Given the description of an element on the screen output the (x, y) to click on. 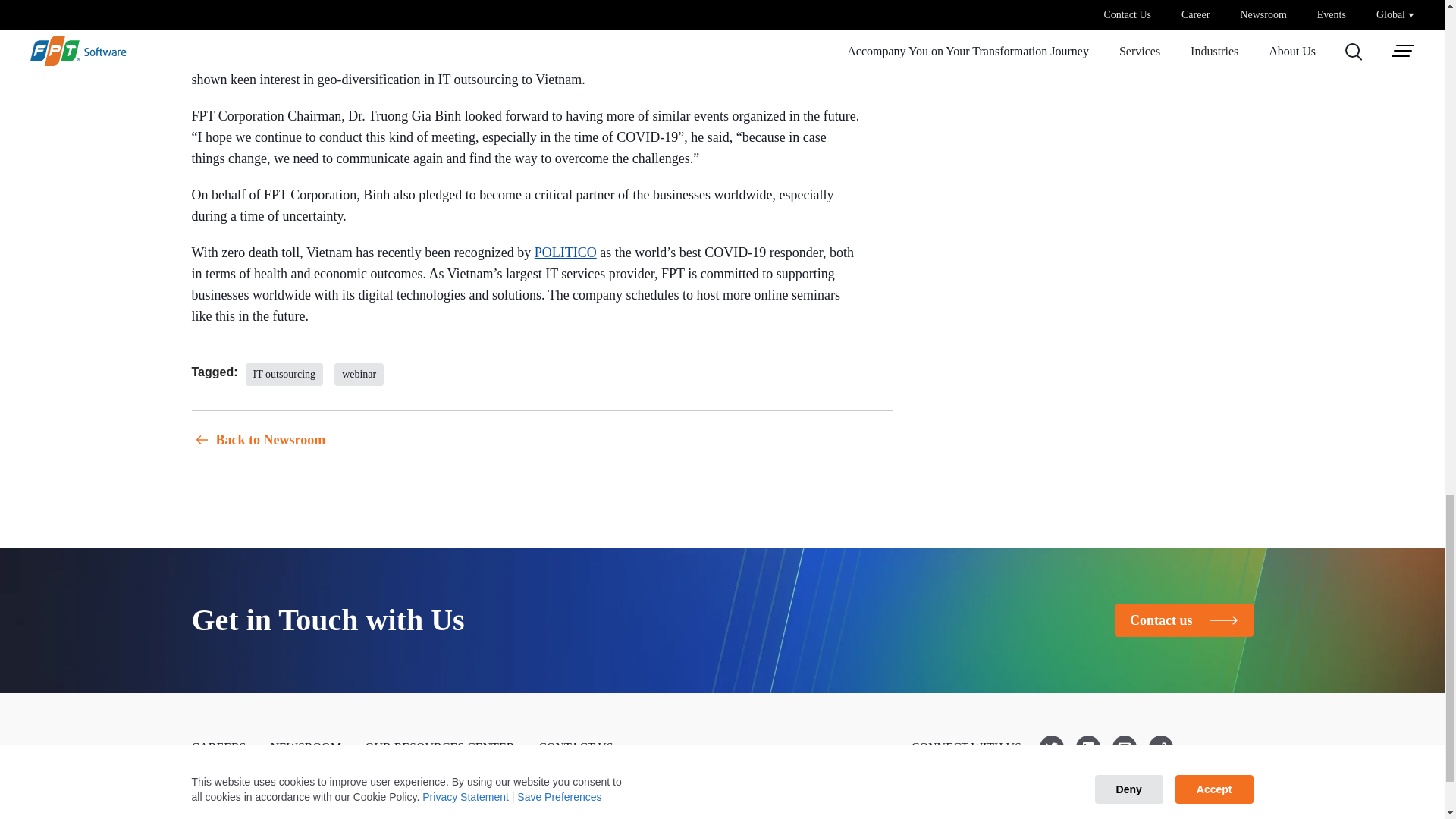
japanese-market (359, 374)
japanese-market (284, 374)
